Given the description of an element on the screen output the (x, y) to click on. 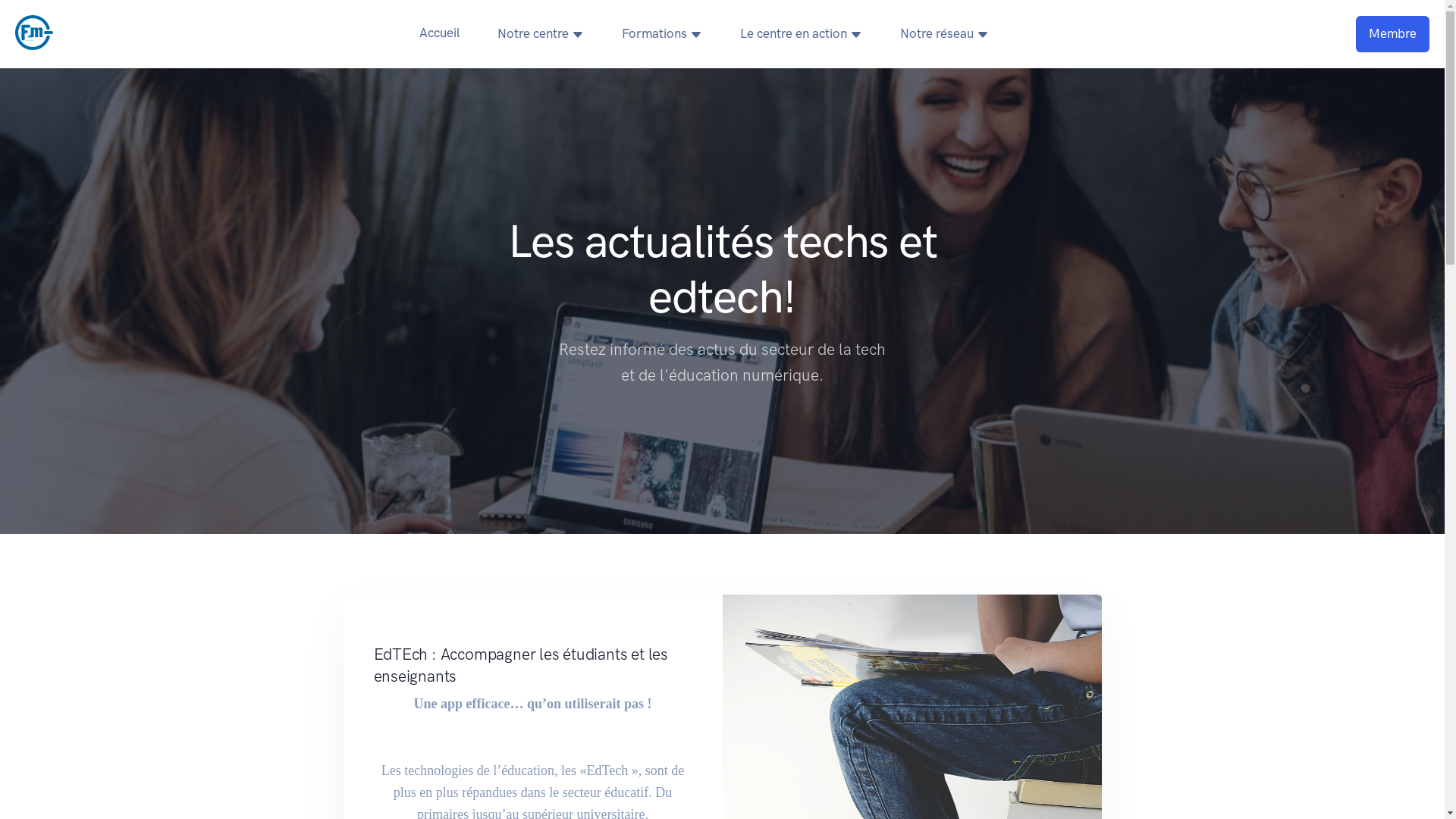
Formations Element type: text (661, 33)
Membre Element type: text (1392, 33)
Accueil Element type: text (439, 32)
Le centre en action Element type: text (801, 33)
Notre centre Element type: text (540, 33)
